Given the description of an element on the screen output the (x, y) to click on. 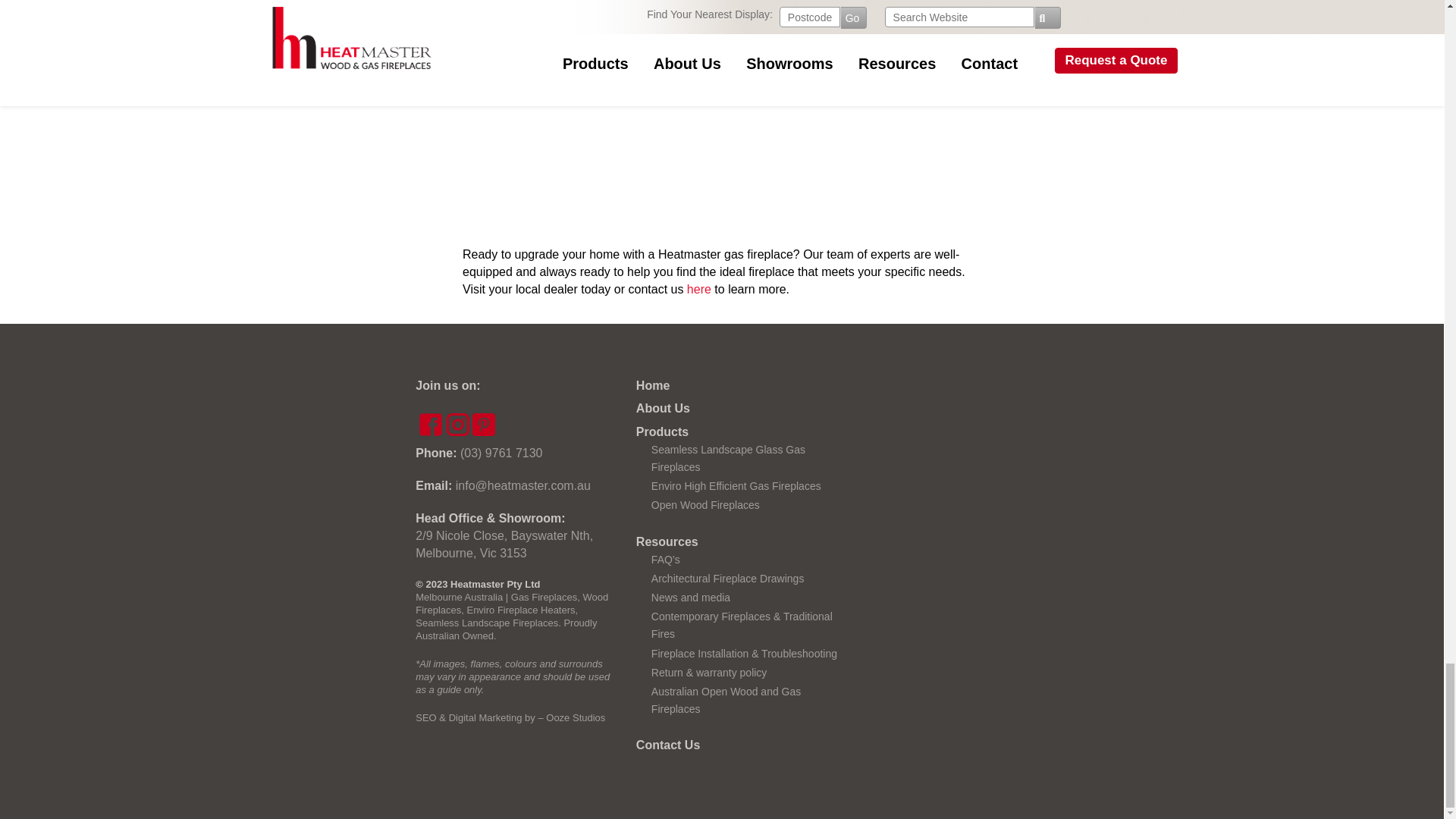
SEO (424, 717)
here (699, 288)
Home (652, 385)
About Us (663, 408)
Digital Marketing (485, 717)
Products (662, 431)
